Given the description of an element on the screen output the (x, y) to click on. 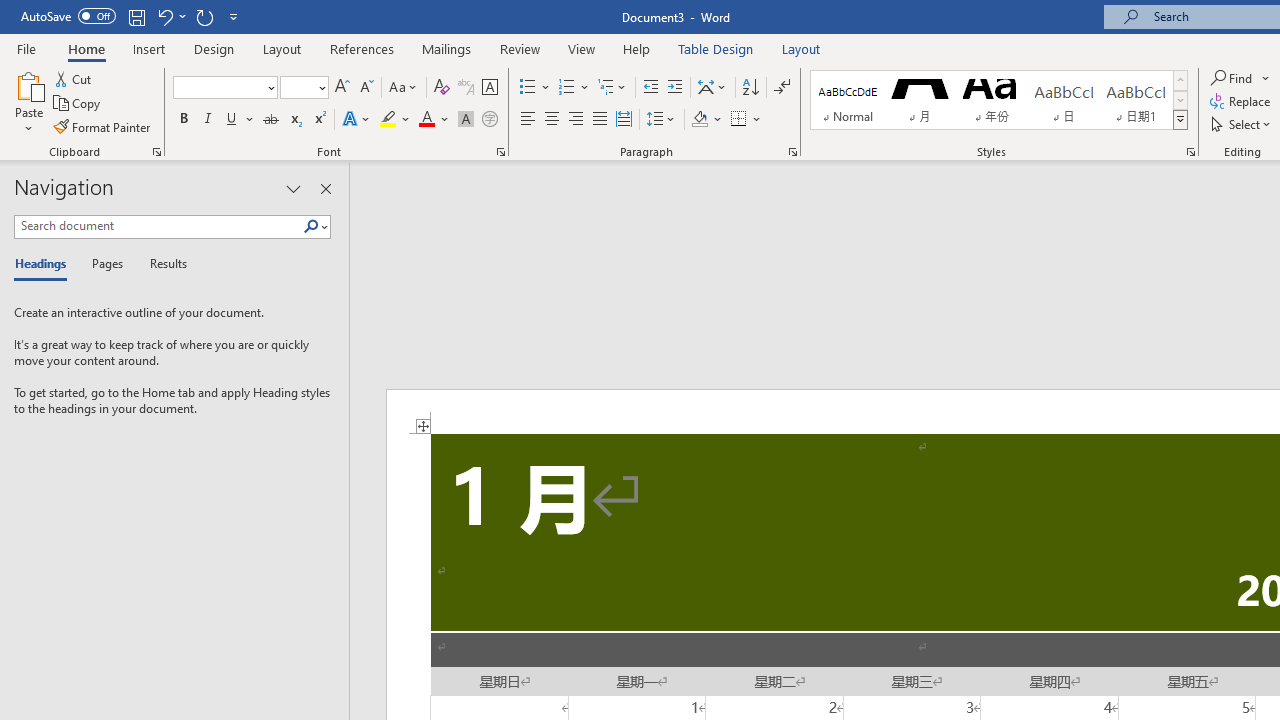
Shading (706, 119)
Mailings (447, 48)
Styles... (1190, 151)
Shading RGB(0, 0, 0) (699, 119)
Bold (183, 119)
Format Painter (103, 126)
AutomationID: QuickStylesGallery (999, 99)
Clear Formatting (442, 87)
